Given the description of an element on the screen output the (x, y) to click on. 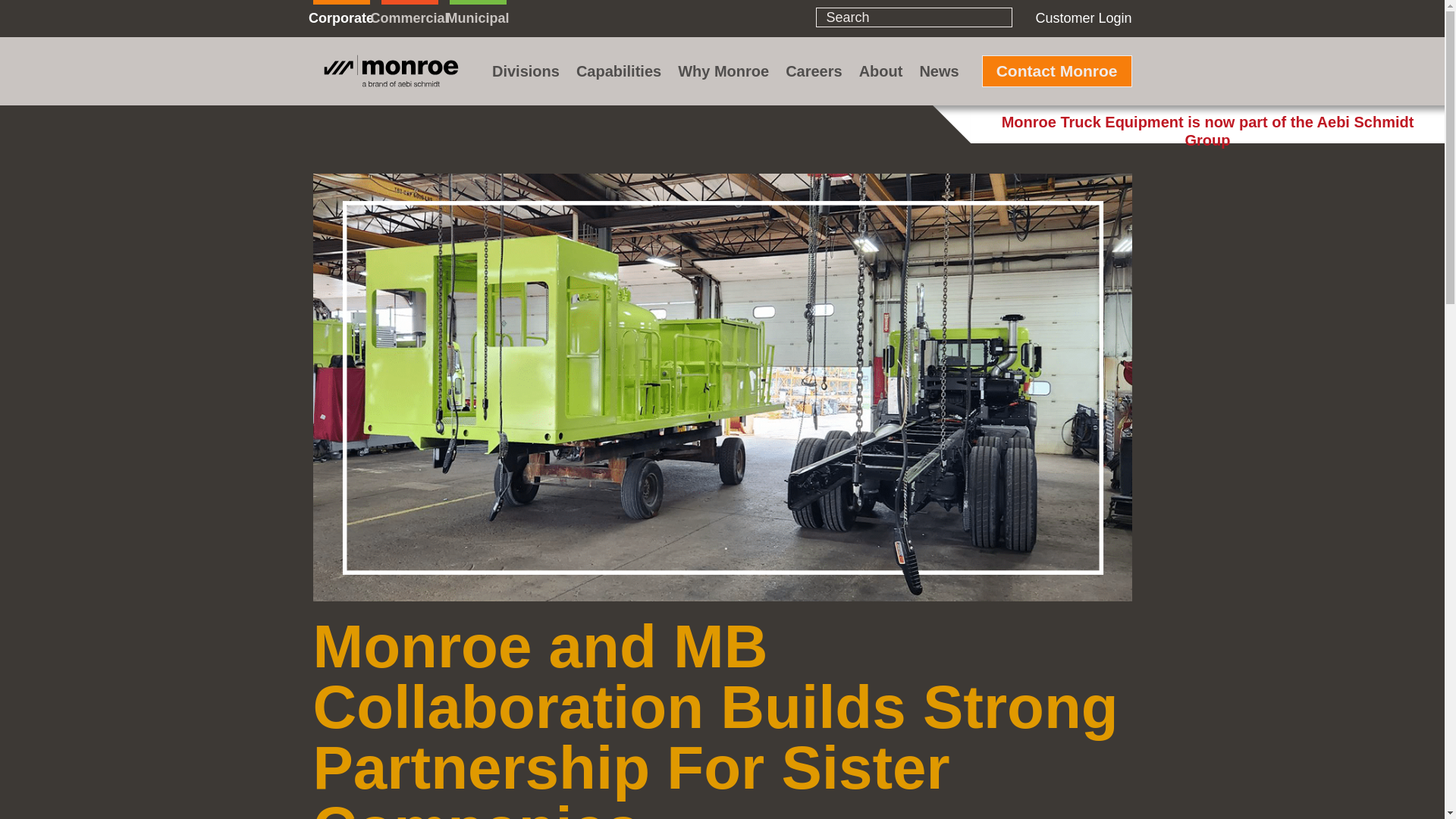
Divisions (525, 70)
Why Monroe (723, 70)
Search (24, 13)
Contact Monroe (1056, 70)
Capabilities (618, 70)
Customer Login (1083, 17)
